Given the description of an element on the screen output the (x, y) to click on. 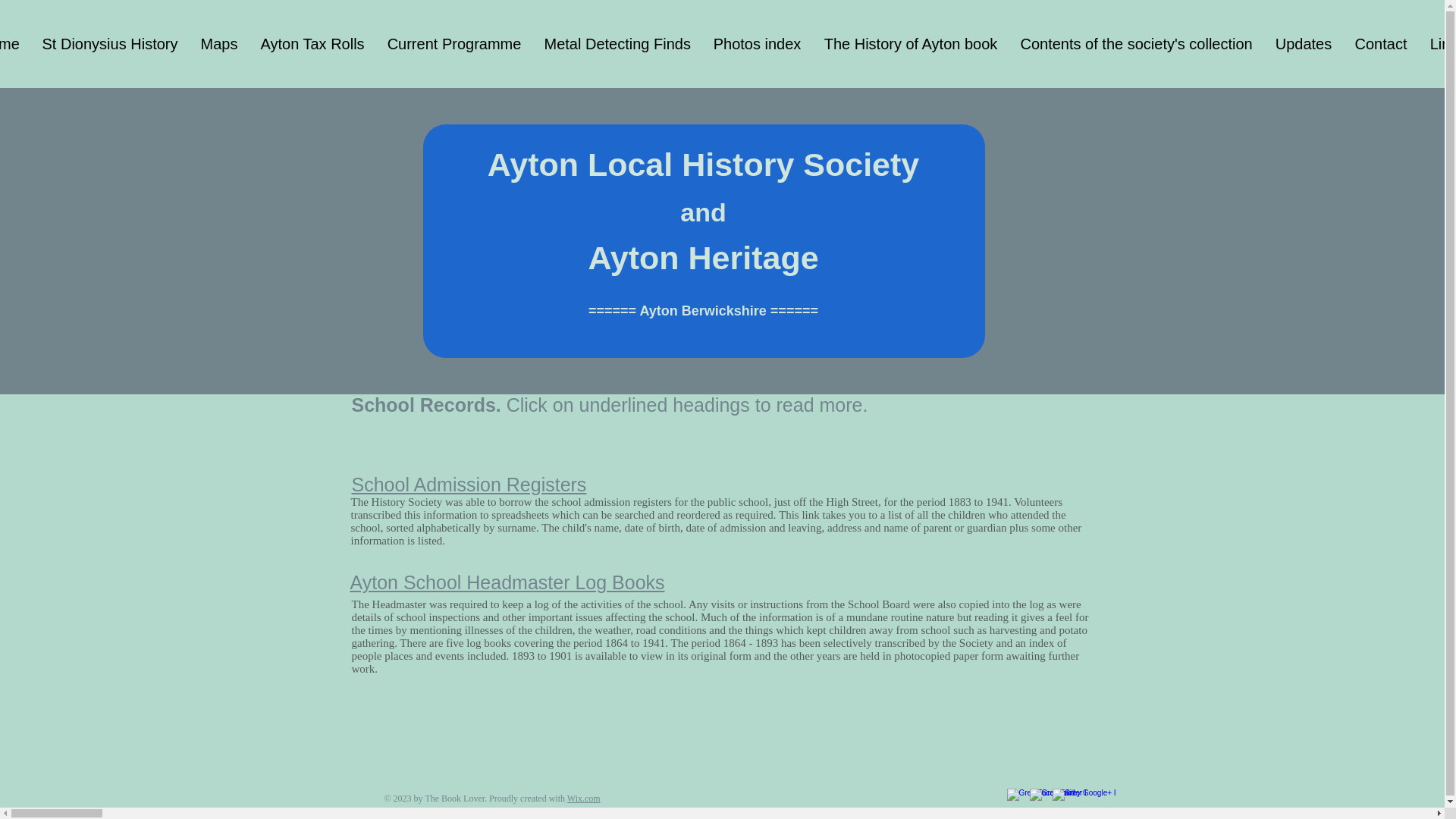
Updates (1302, 43)
Ayton Tax Rolls (311, 43)
Metal Detecting Finds (616, 43)
The History of Ayton book (910, 43)
Ayton School Headmaster Log Books (507, 581)
Wix.com (583, 798)
Contents of the society's collection (1136, 43)
School Admission Registers (469, 484)
Current Programme (453, 43)
St Dionysius History (109, 43)
Photos index (756, 43)
